Given the description of an element on the screen output the (x, y) to click on. 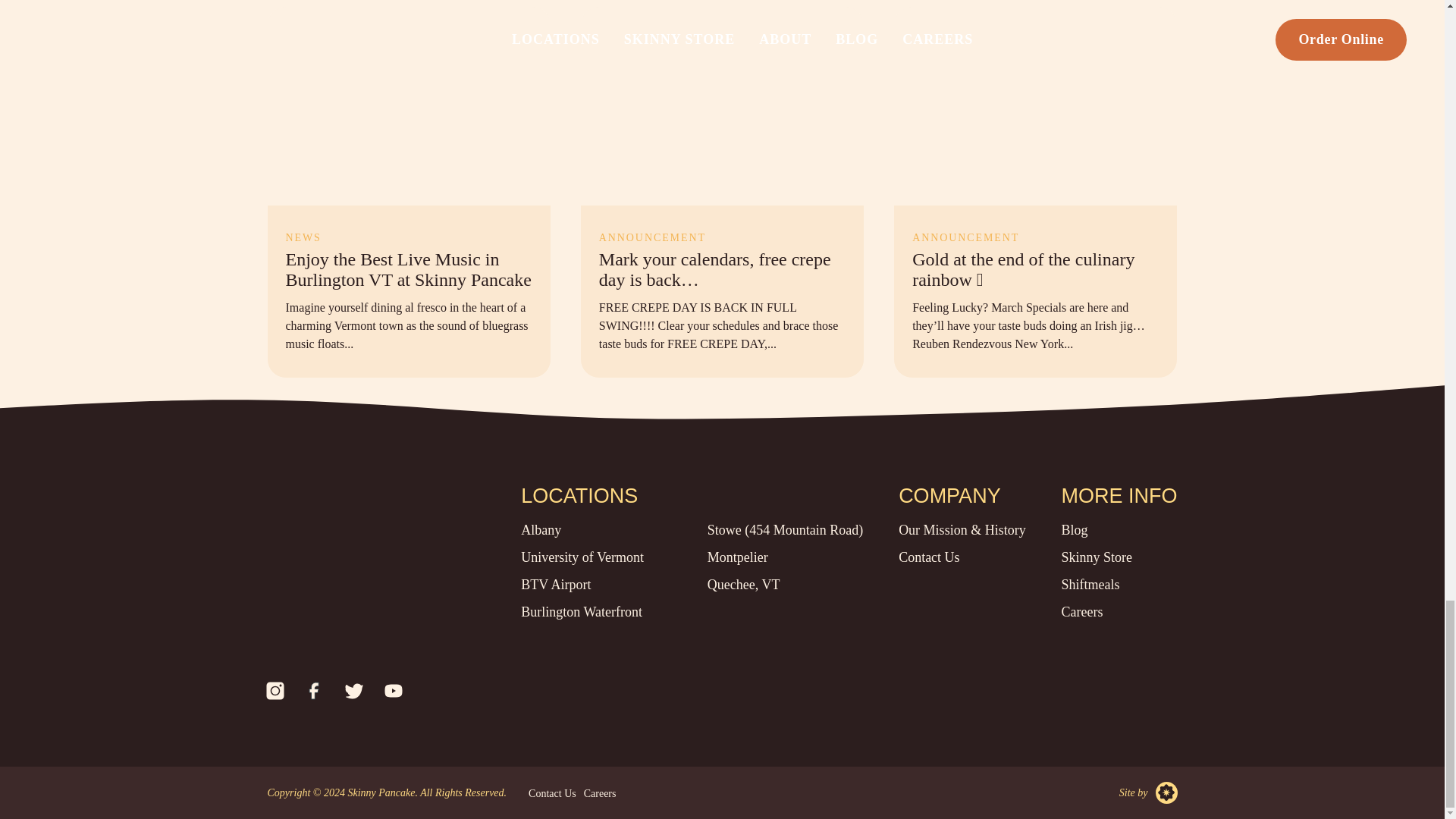
Follow us on instagram (274, 690)
Follow us on Facebook (313, 690)
Follow us on twitter (352, 690)
Follow us on youtube (392, 690)
